Given the description of an element on the screen output the (x, y) to click on. 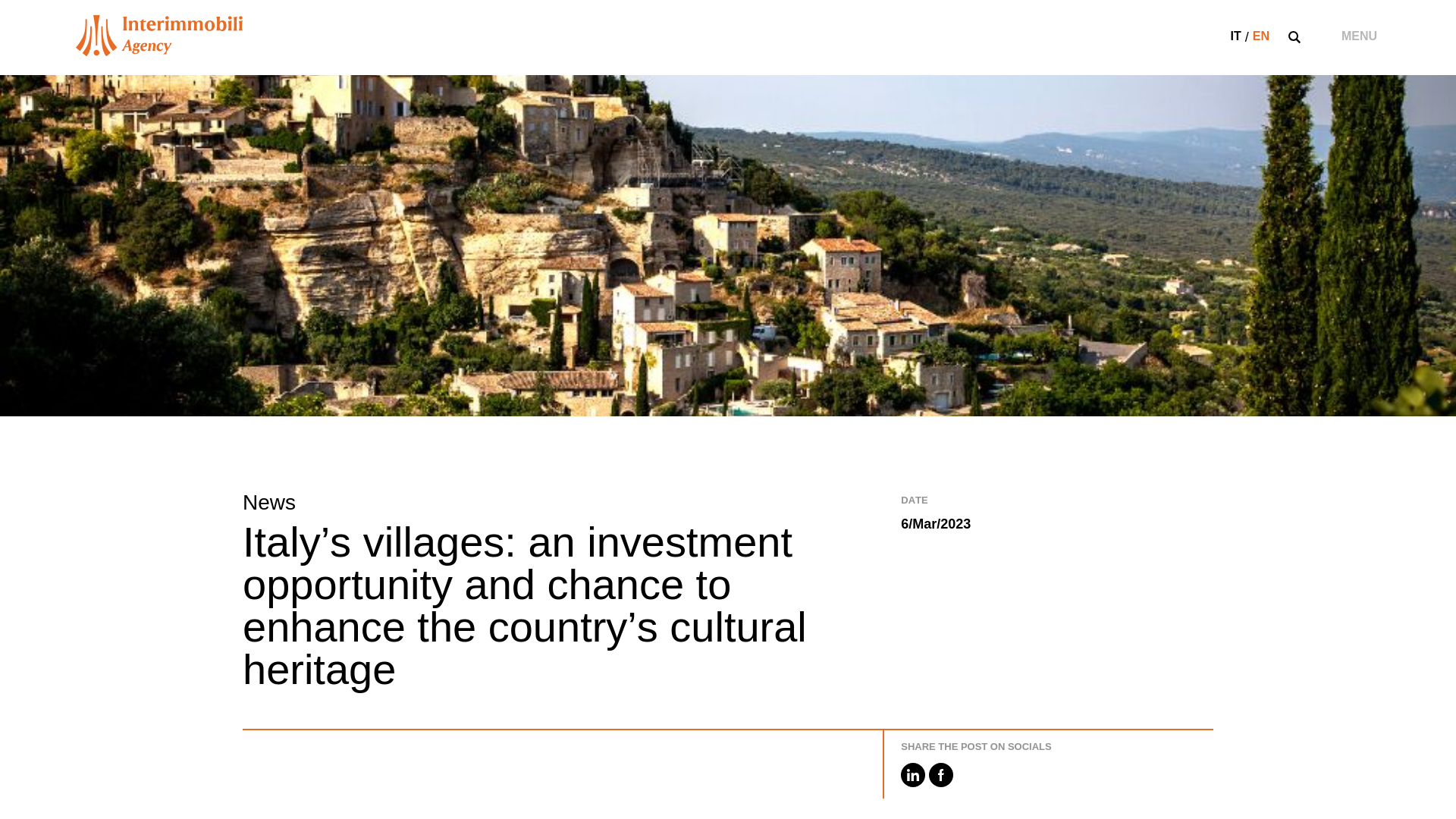
EN (1260, 36)
EN (1260, 35)
MENU (1359, 36)
Cerca (1118, 409)
